Given the description of an element on the screen output the (x, y) to click on. 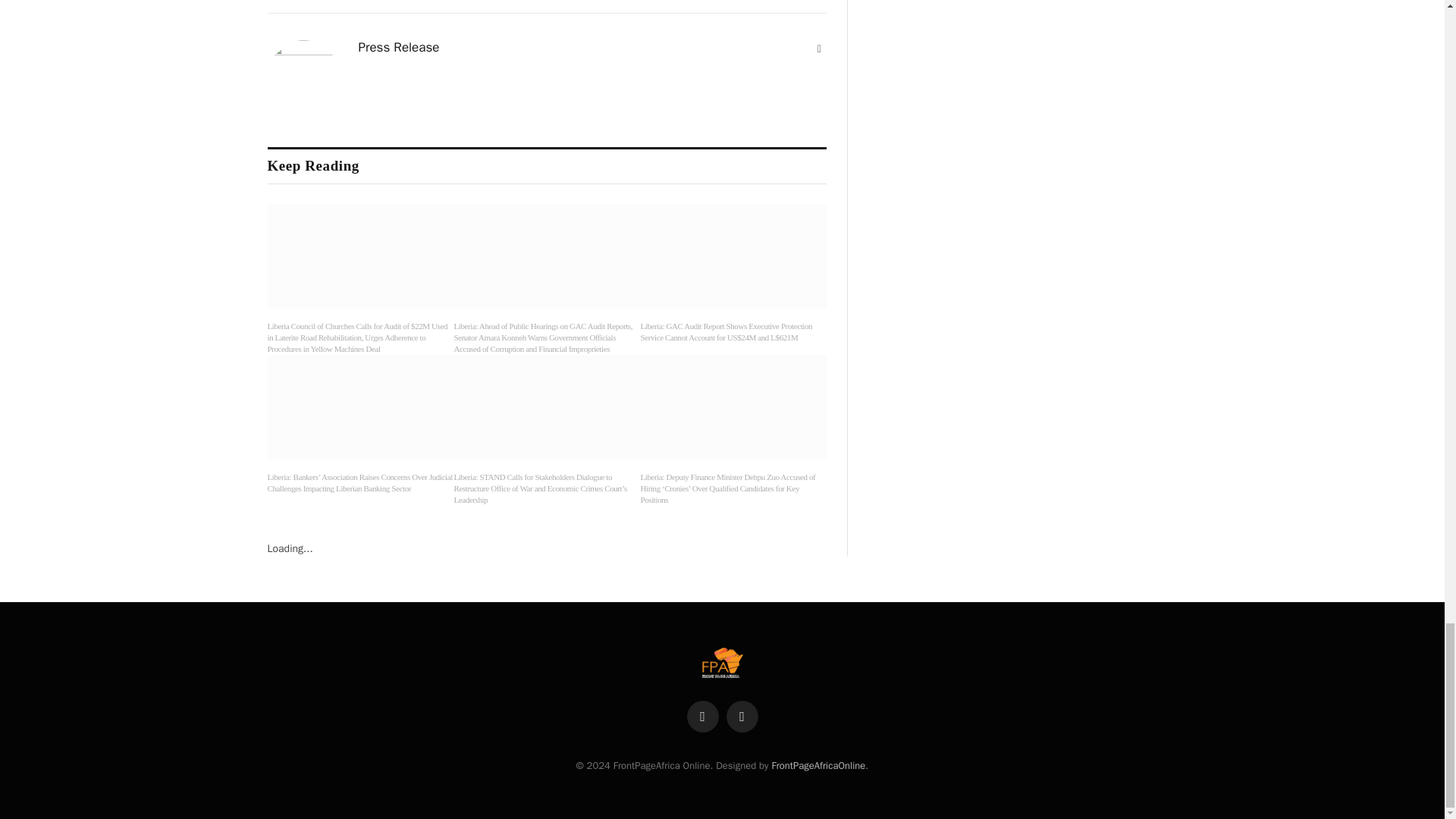
Website (818, 48)
Posts by Press Release (398, 47)
